Given the description of an element on the screen output the (x, y) to click on. 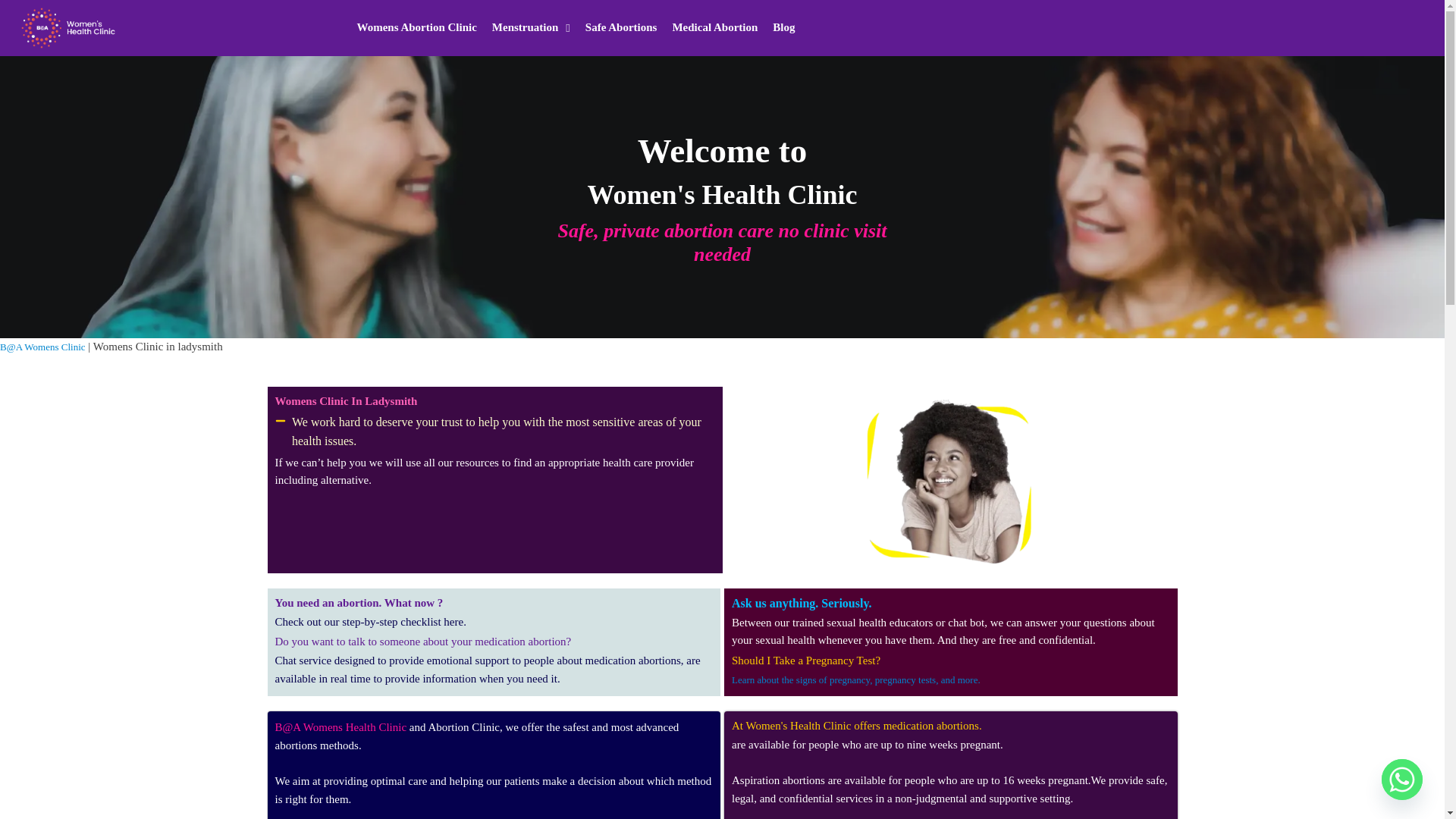
Safe Abortions (621, 28)
Womens Abortion Clinic (416, 28)
Medical Abortion (714, 28)
Menstruation (531, 28)
Blog (783, 28)
